Given the description of an element on the screen output the (x, y) to click on. 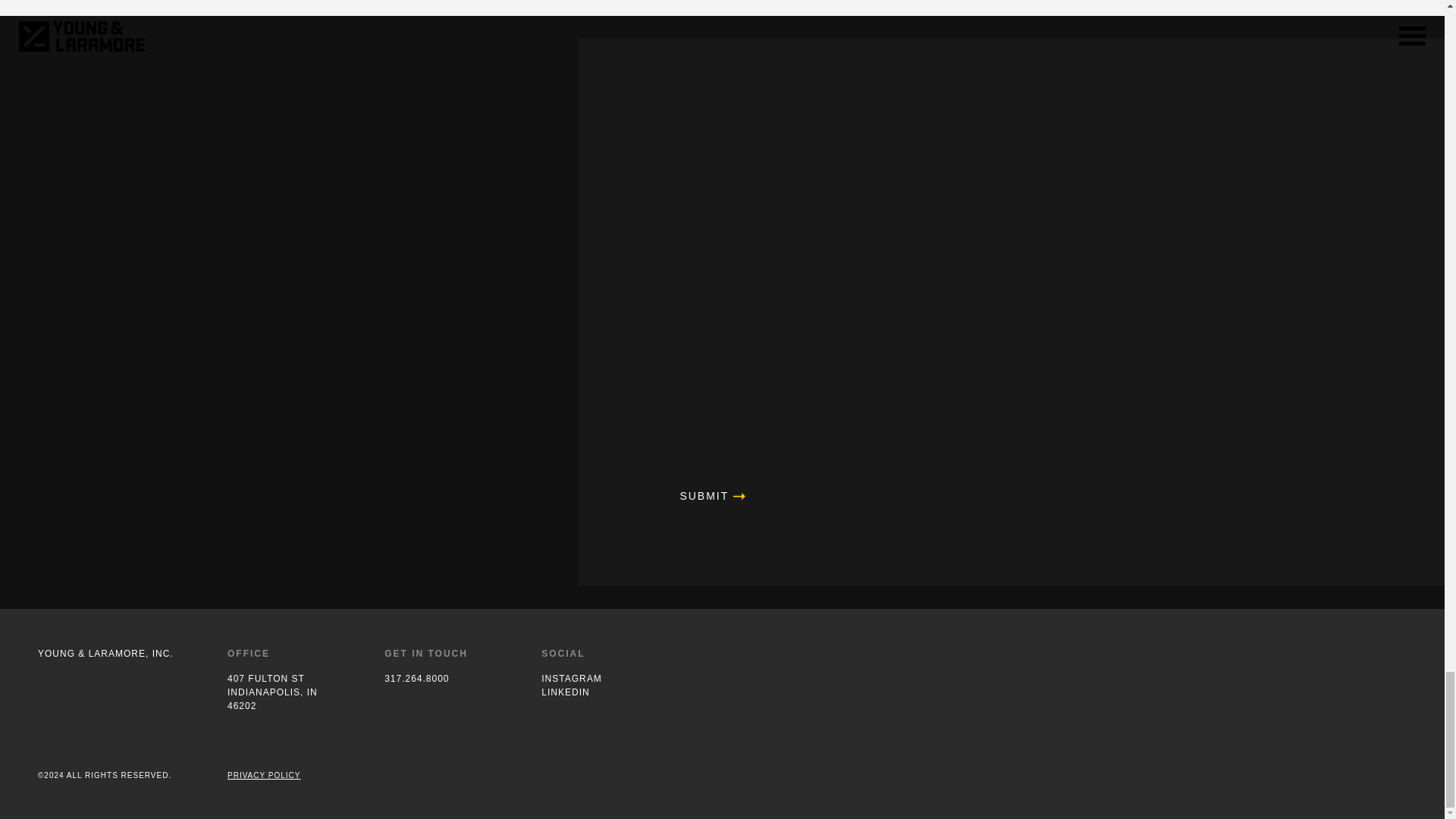
SUBMIT (722, 495)
317.264.8000 (443, 678)
INSTAGRAM (601, 678)
LINKEDIN (601, 692)
PRIVACY POLICY (286, 691)
